Given the description of an element on the screen output the (x, y) to click on. 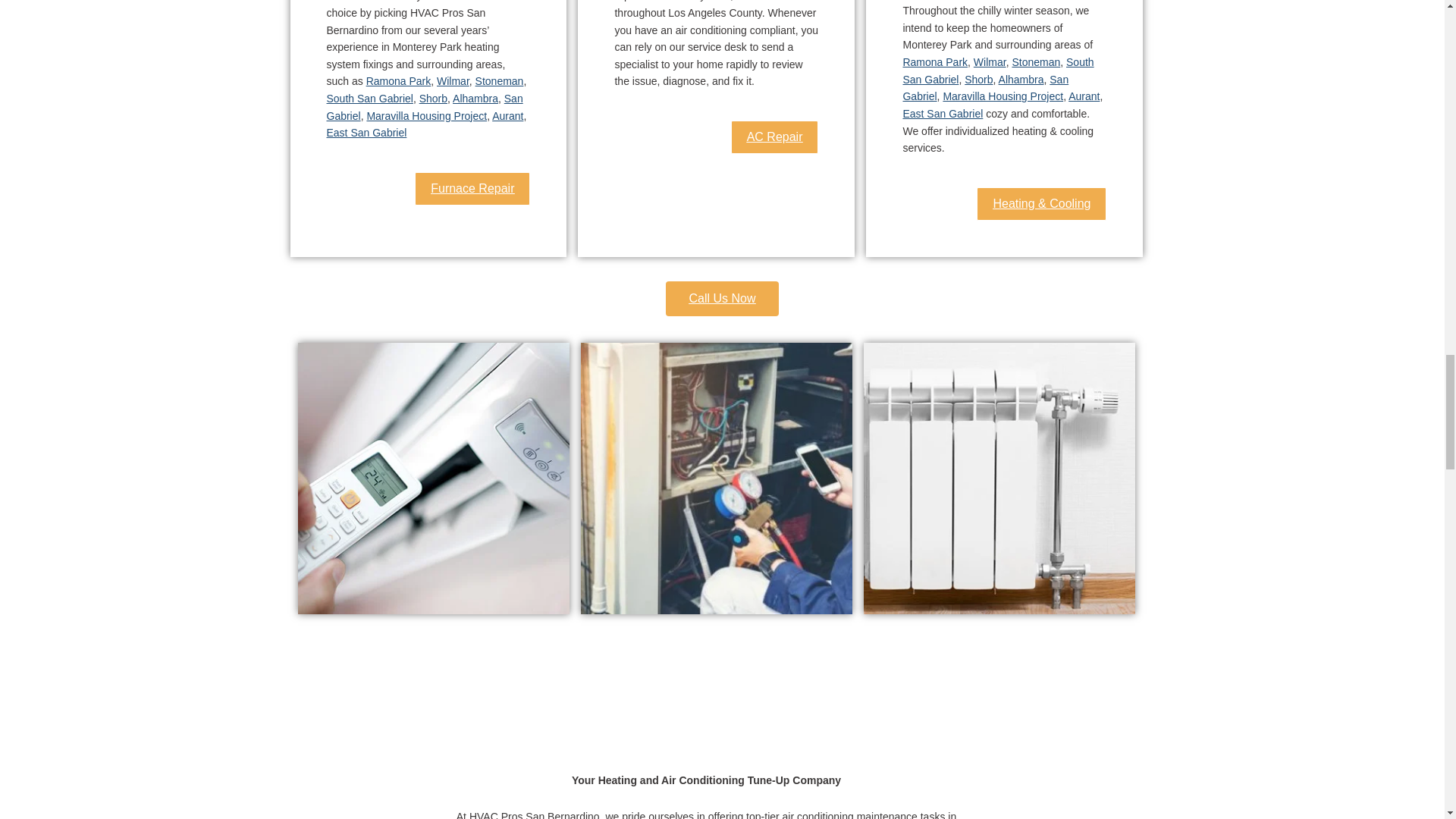
AC Repair (774, 136)
Shorb (432, 98)
Aurant (1083, 96)
Maravilla Housing Project (1002, 96)
Stoneman (500, 80)
East San Gabriel (942, 113)
Maravilla Housing Project (426, 115)
Alhambra (474, 98)
East San Gabriel (366, 132)
Wilmar (452, 80)
